Given the description of an element on the screen output the (x, y) to click on. 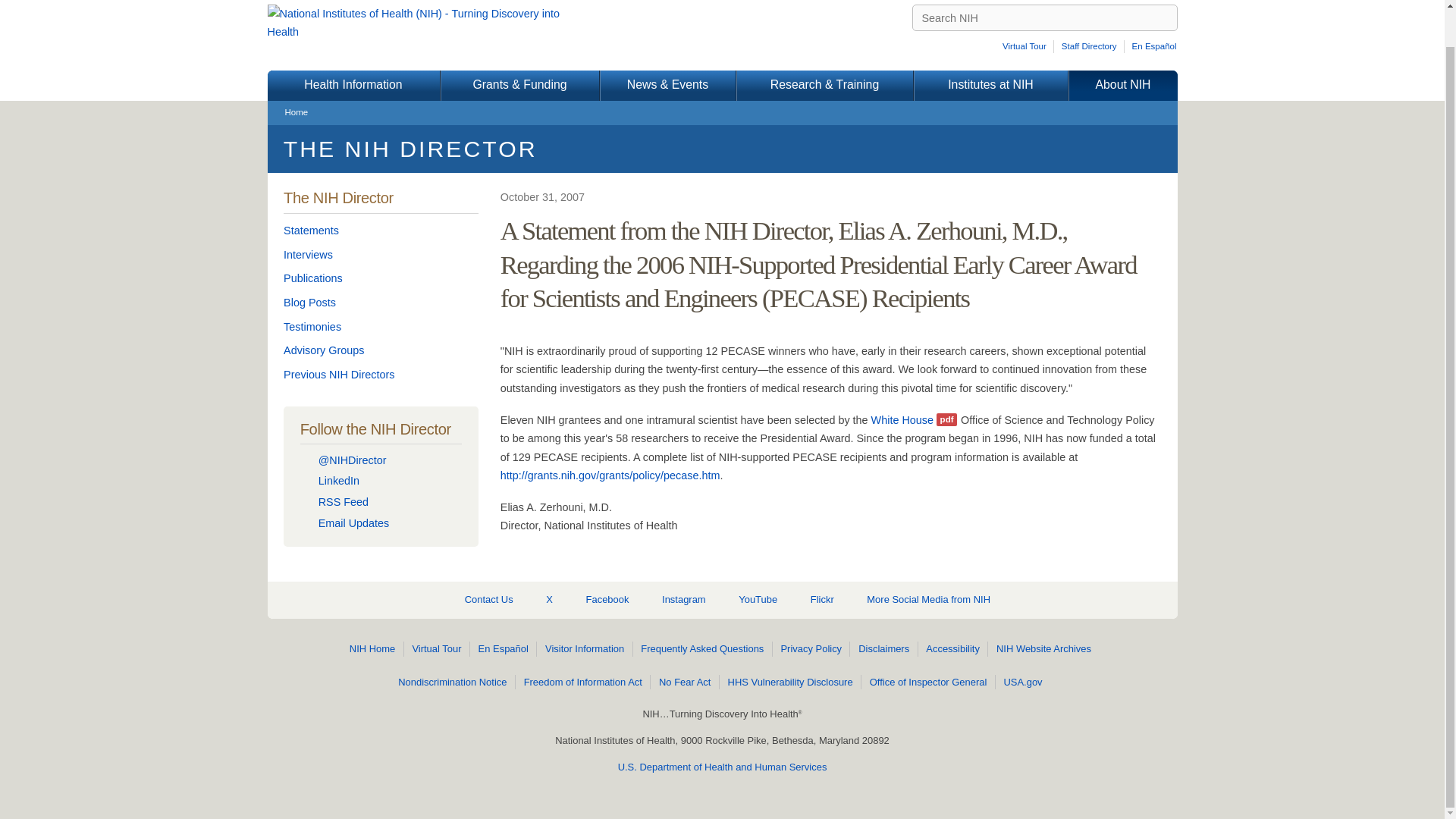
Health Information (352, 85)
Virtual Tour (1026, 46)
Search (1164, 17)
Search (1164, 17)
Search (1164, 17)
Staff Directory (1091, 46)
